Given the description of an element on the screen output the (x, y) to click on. 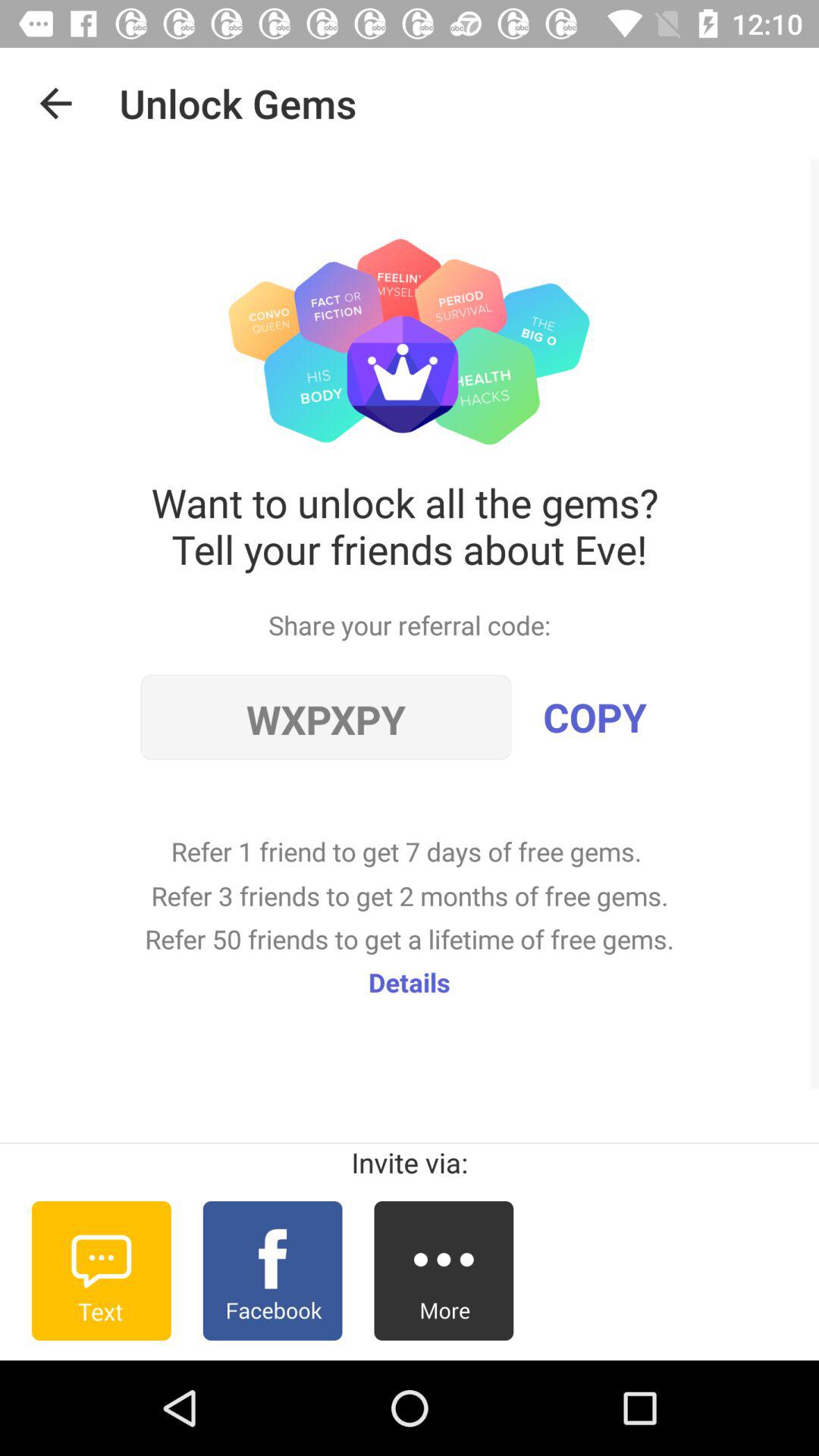
invite via text message (101, 1270)
